Given the description of an element on the screen output the (x, y) to click on. 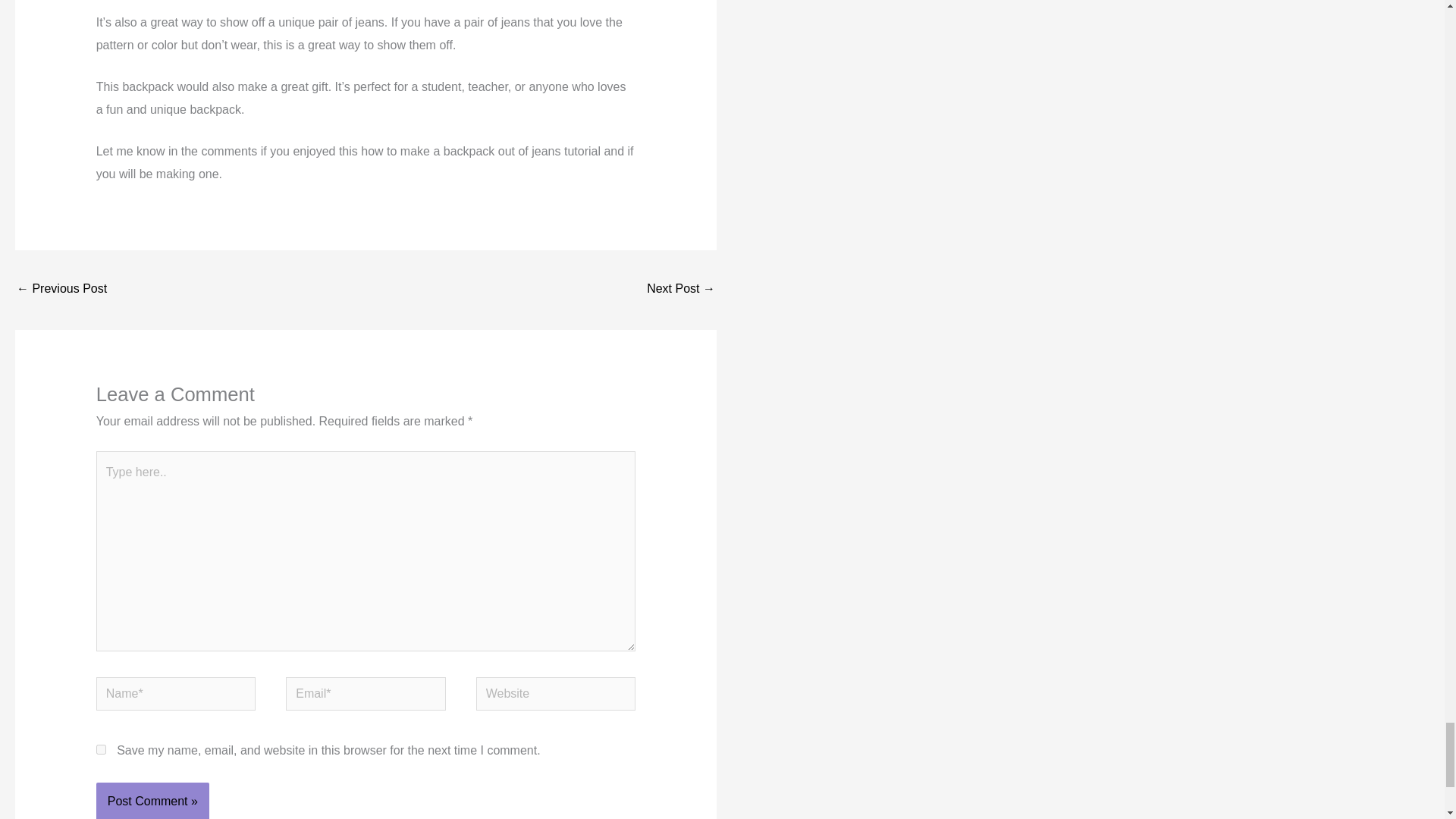
The Essential Guide to What Is Allowed in a Carry On Bag (61, 289)
The Average Backpack Weight: How Much Does It Really Weigh (680, 289)
yes (101, 749)
